Given the description of an element on the screen output the (x, y) to click on. 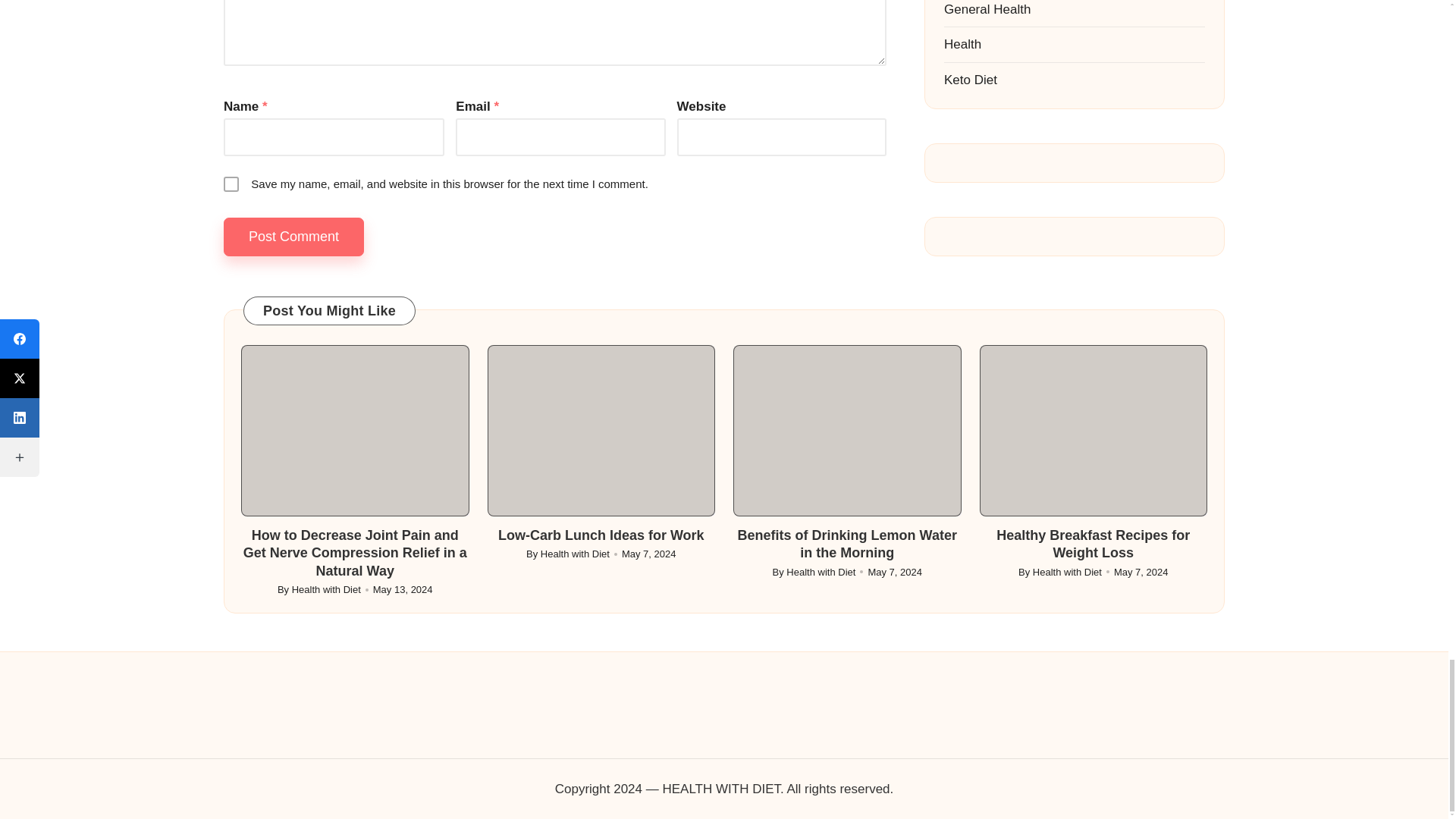
View all posts by Health with Diet (1067, 572)
Post Comment (294, 236)
yes (231, 183)
Healthy Breakfast Recipes for Weight Loss 6 (1093, 430)
View all posts by Health with Diet (821, 572)
Post Comment (294, 236)
Benefits of Drinking Lemon Water in the Morning 5 (846, 430)
View all posts by Health with Diet (575, 553)
View all posts by Health with Diet (326, 589)
